Given the description of an element on the screen output the (x, y) to click on. 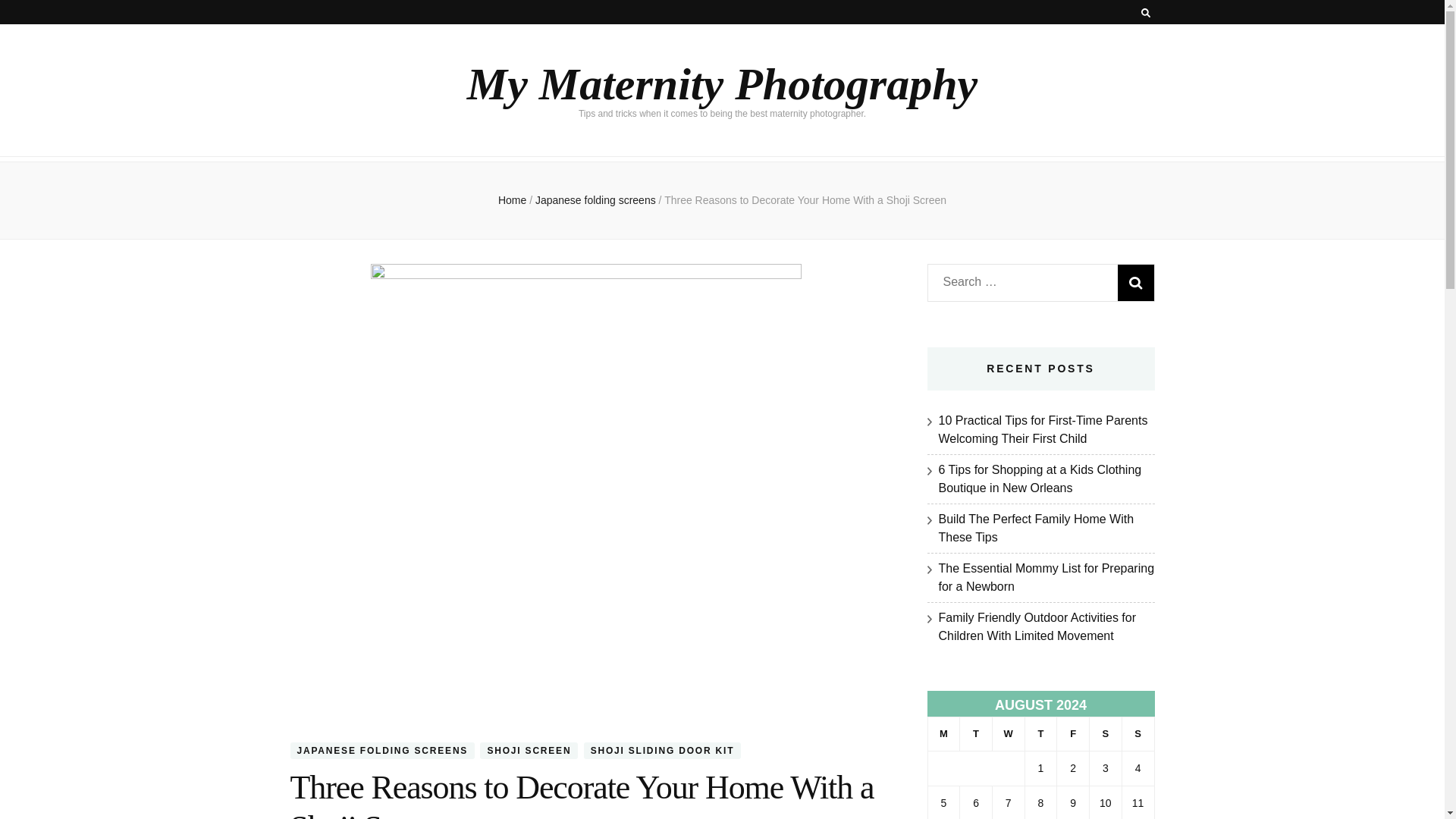
Sunday (1137, 734)
Search (1136, 282)
Tuesday (975, 734)
Search (1136, 282)
Build The Perfect Family Home With These Tips (1036, 527)
Home (511, 200)
Three Reasons to Decorate Your Home With a Shoji Screen (804, 200)
My Maternity Photography (721, 83)
